Given the description of an element on the screen output the (x, y) to click on. 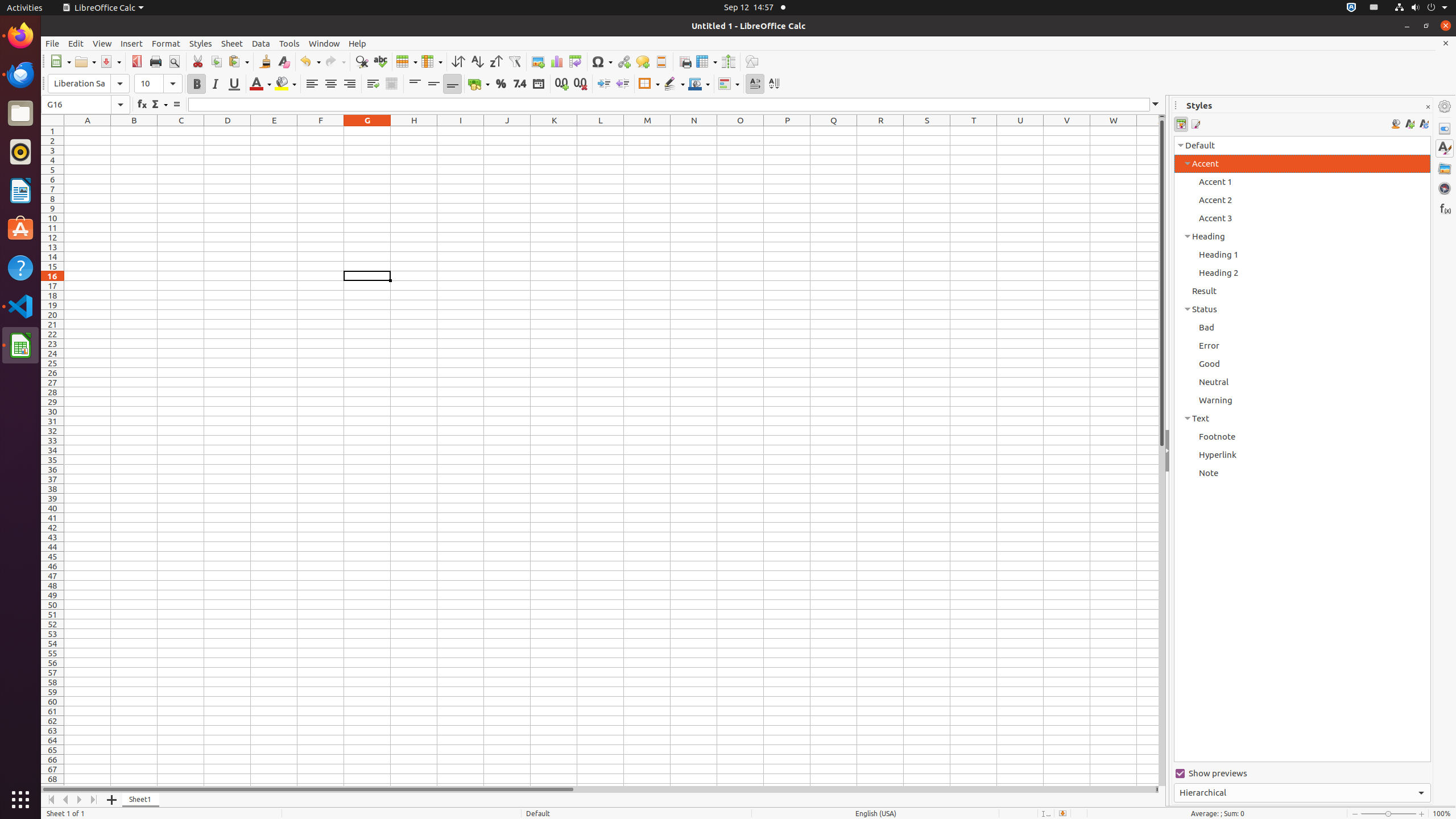
Wrap Text Element type: push-button (372, 83)
Thunderbird Mail Element type: push-button (20, 74)
:1.21/StatusNotifierItem Element type: menu (1373, 7)
F1 Element type: table-cell (320, 130)
